Given the description of an element on the screen output the (x, y) to click on. 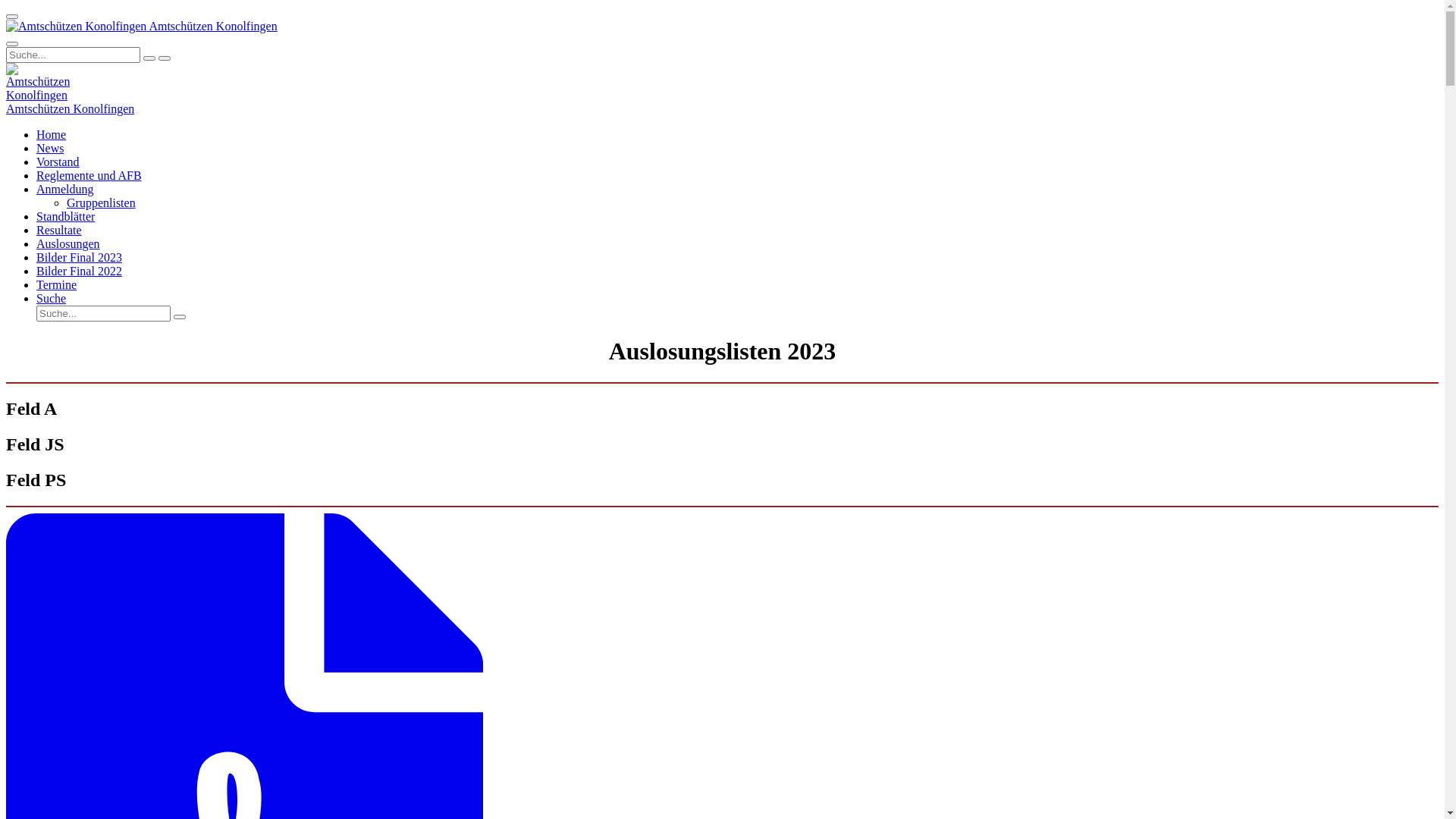
Termine Element type: text (56, 284)
Bilder Final 2023 Element type: text (79, 257)
Bilder Final 2022 Element type: text (79, 270)
Gruppenlisten Element type: text (100, 202)
Anmeldung Element type: text (65, 188)
Suche Element type: text (50, 297)
Reglemente und AFB Element type: text (88, 175)
Auslosungen Element type: text (68, 243)
Vorstand Element type: text (57, 161)
Resultate Element type: text (58, 229)
Home Element type: text (50, 134)
News Element type: text (49, 147)
